Given the description of an element on the screen output the (x, y) to click on. 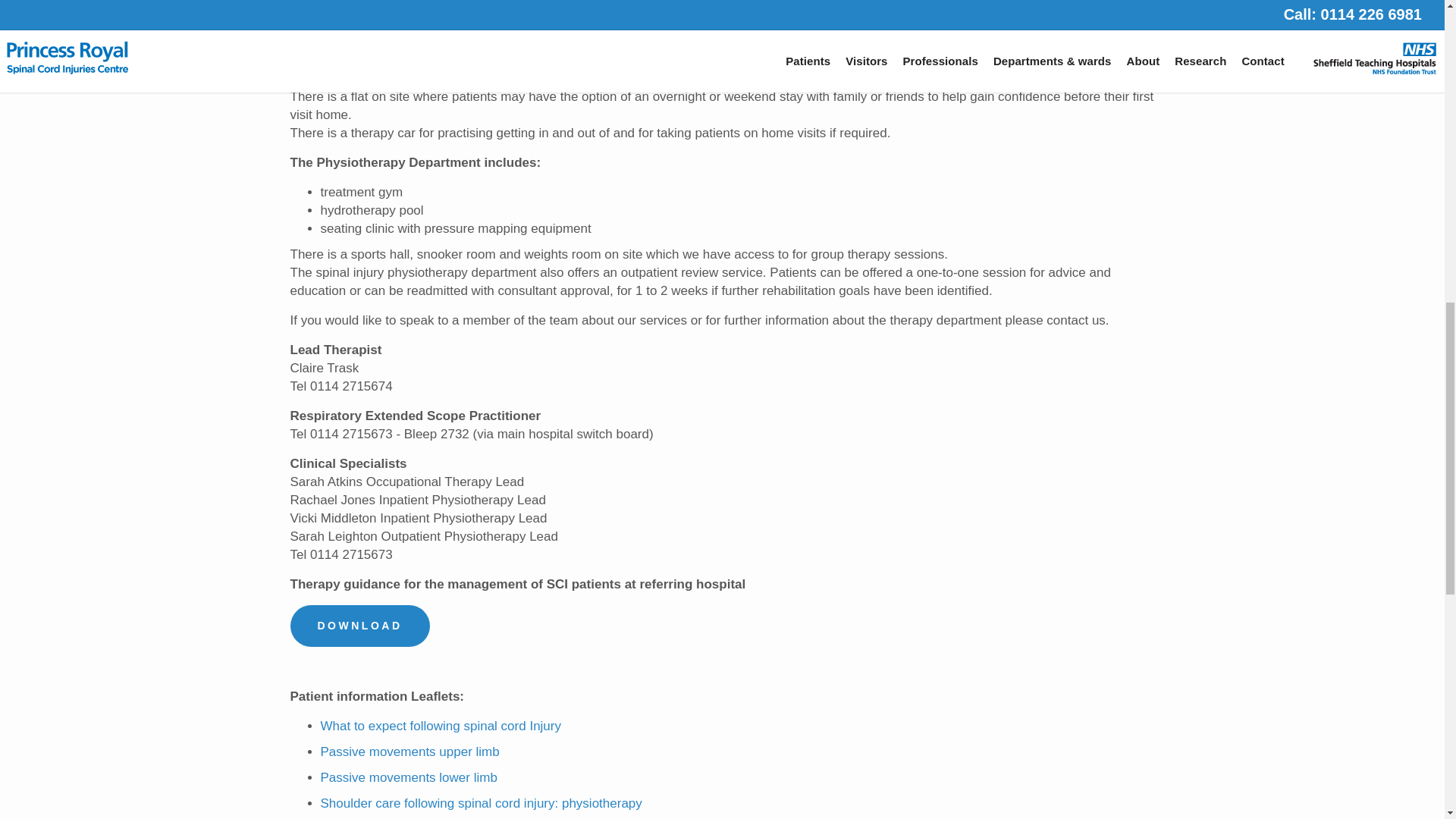
DOWNLOAD (359, 626)
